Given the description of an element on the screen output the (x, y) to click on. 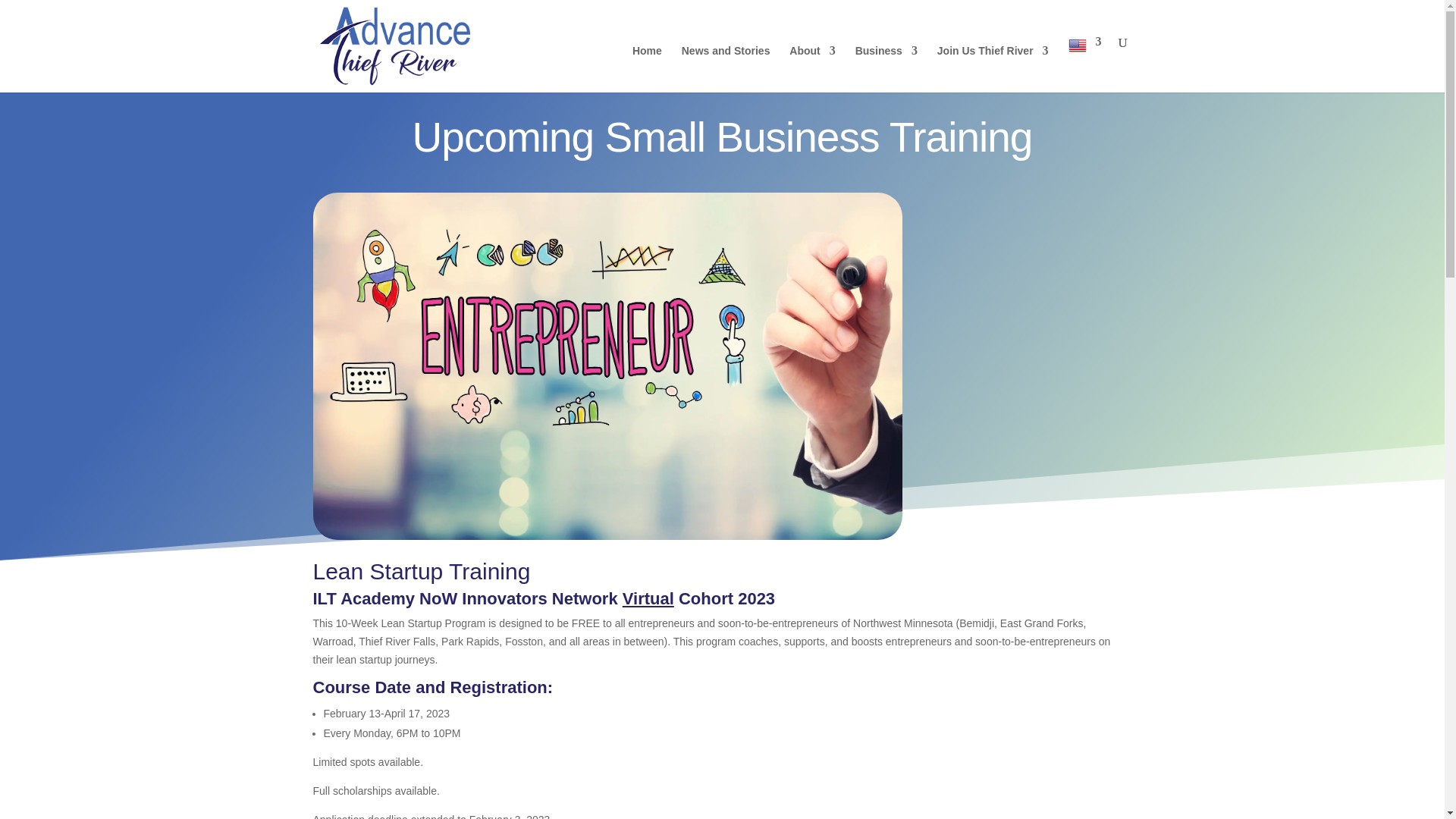
News and Stories (725, 68)
Business (886, 68)
Join Us Thief River (992, 68)
About (811, 68)
